Given the description of an element on the screen output the (x, y) to click on. 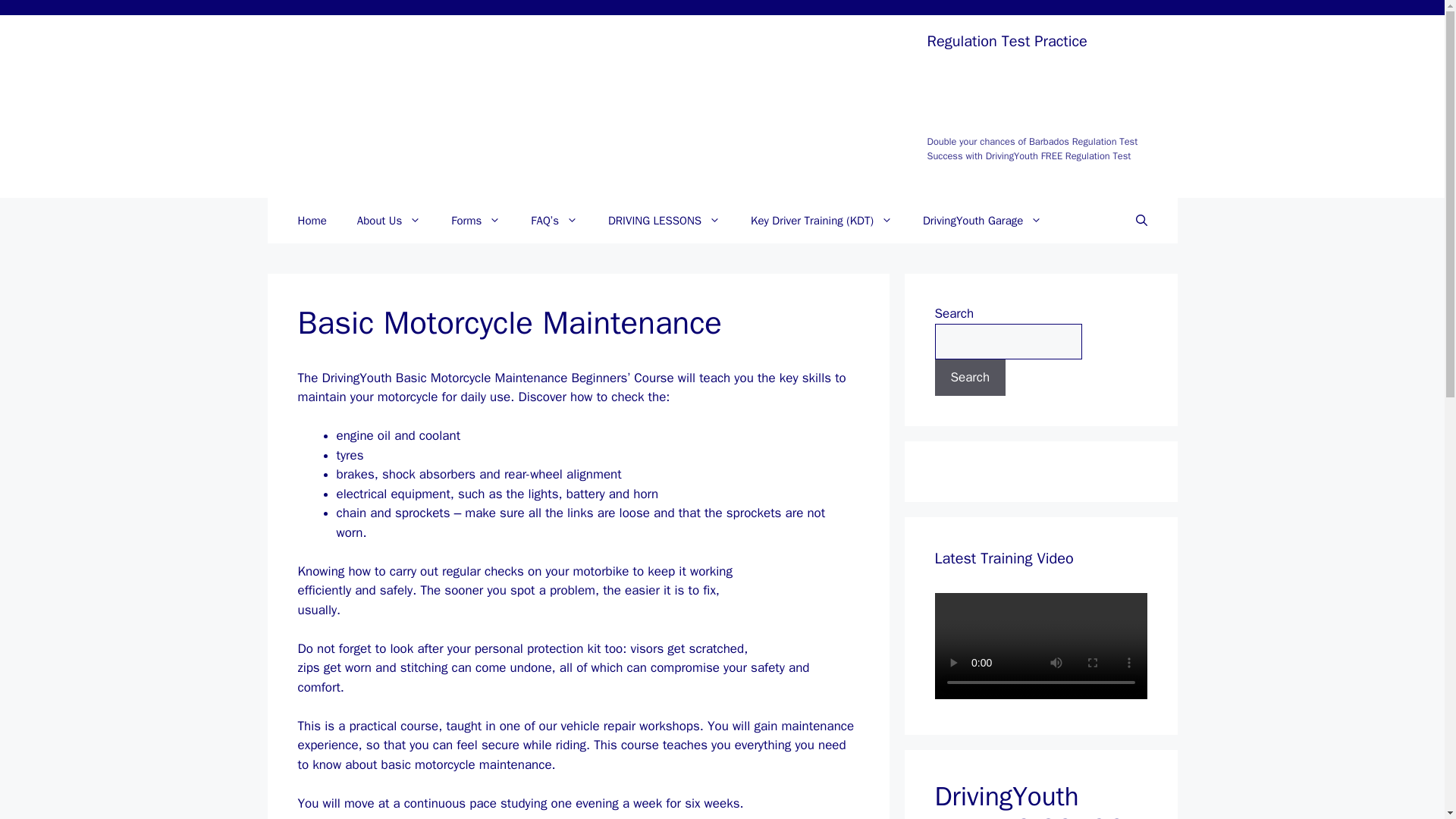
Forms (475, 220)
DRIVING LESSONS (663, 220)
About Us (388, 220)
Home (311, 220)
